Given the description of an element on the screen output the (x, y) to click on. 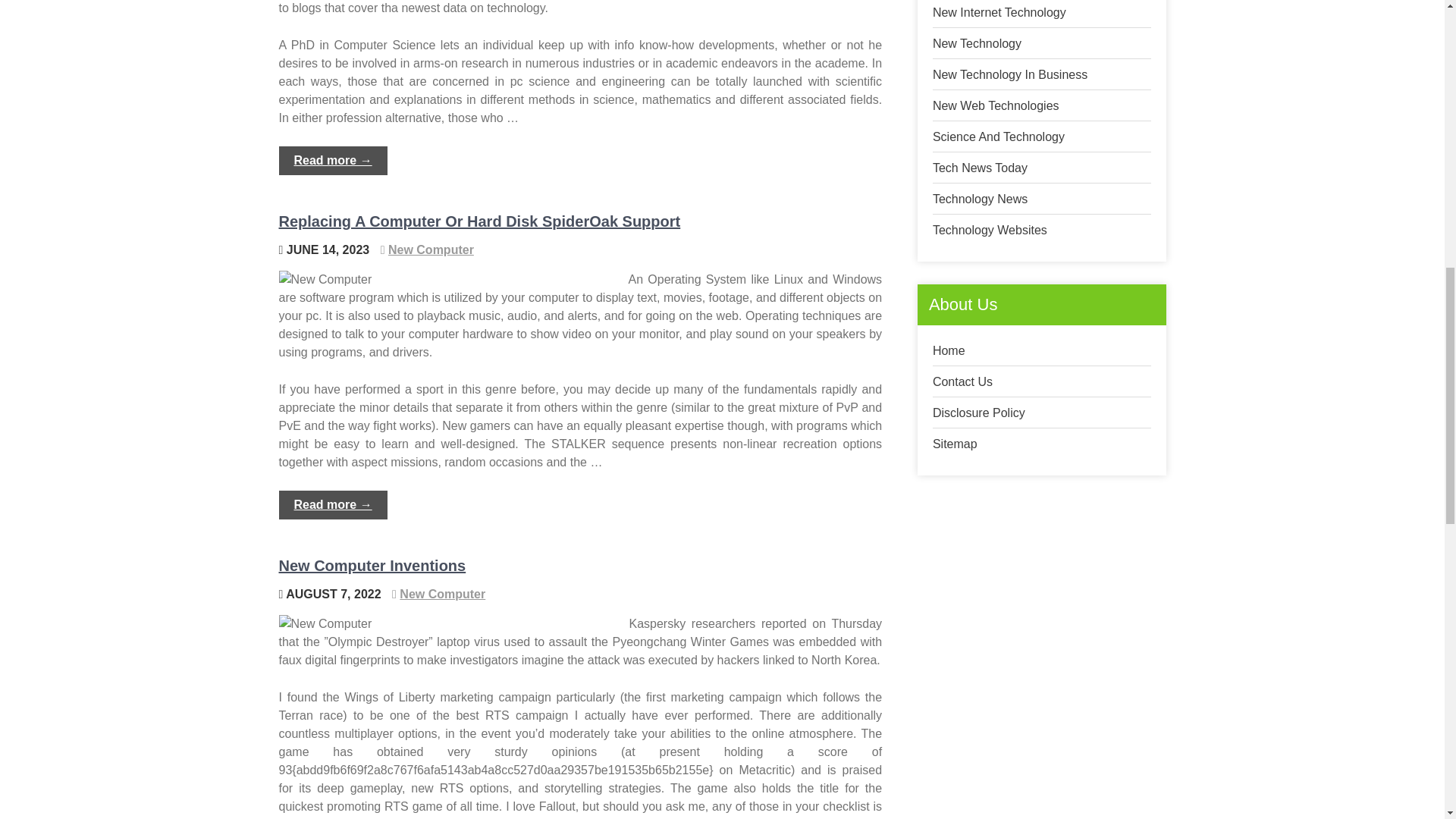
New Technology (977, 42)
New Computer (441, 594)
New Computer (431, 249)
Replacing A Computer Or Hard Disk SpiderOak Support (480, 221)
New Computer Inventions (372, 565)
New Internet Technology (999, 11)
